Given the description of an element on the screen output the (x, y) to click on. 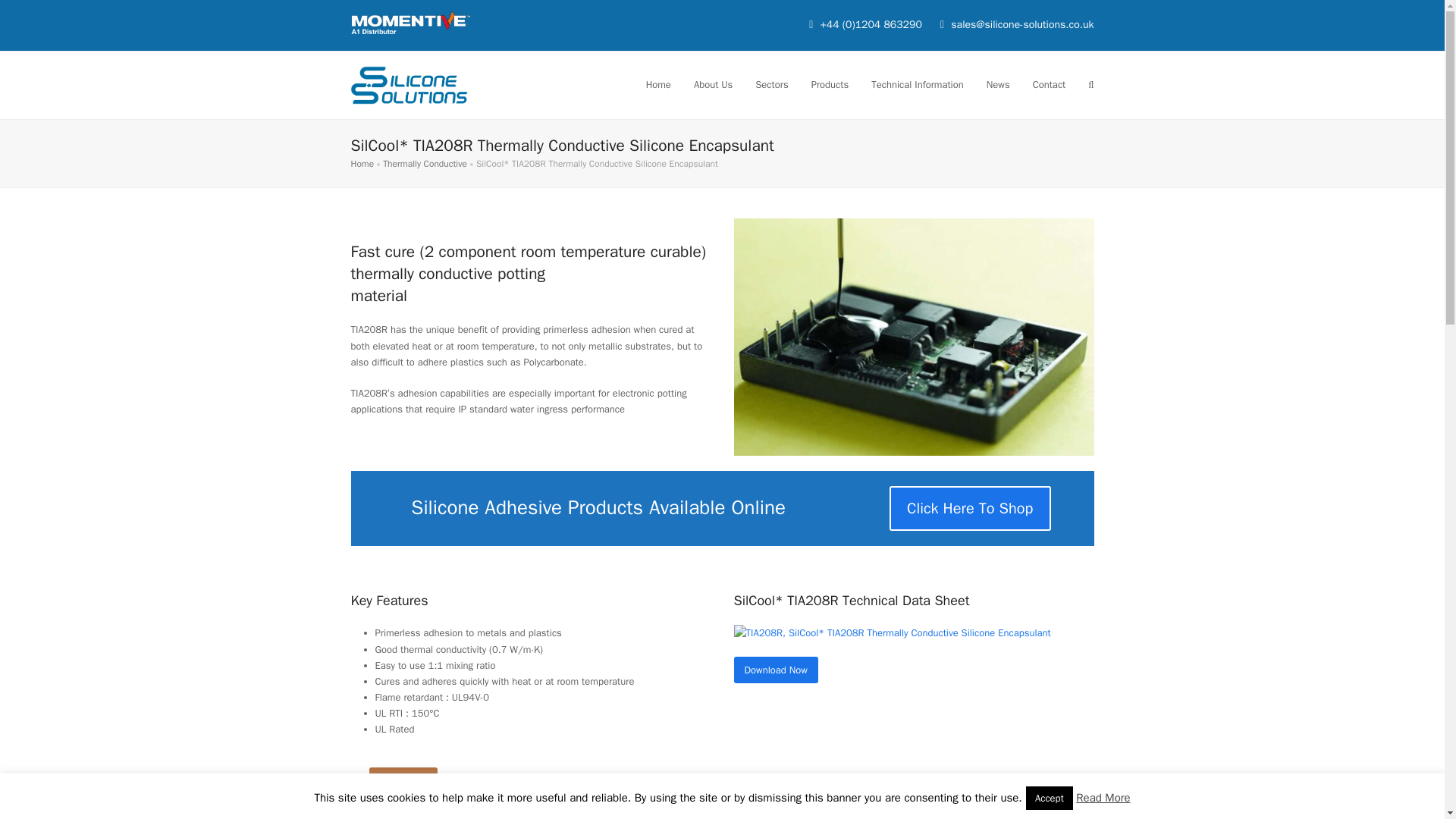
Products (829, 85)
pdf icon (892, 632)
Technical Information (917, 85)
Silicone Solutions Gap Fill Thermally Conductive Silicone (913, 336)
Home (658, 85)
About Us (713, 85)
Sectors (771, 85)
